Given the description of an element on the screen output the (x, y) to click on. 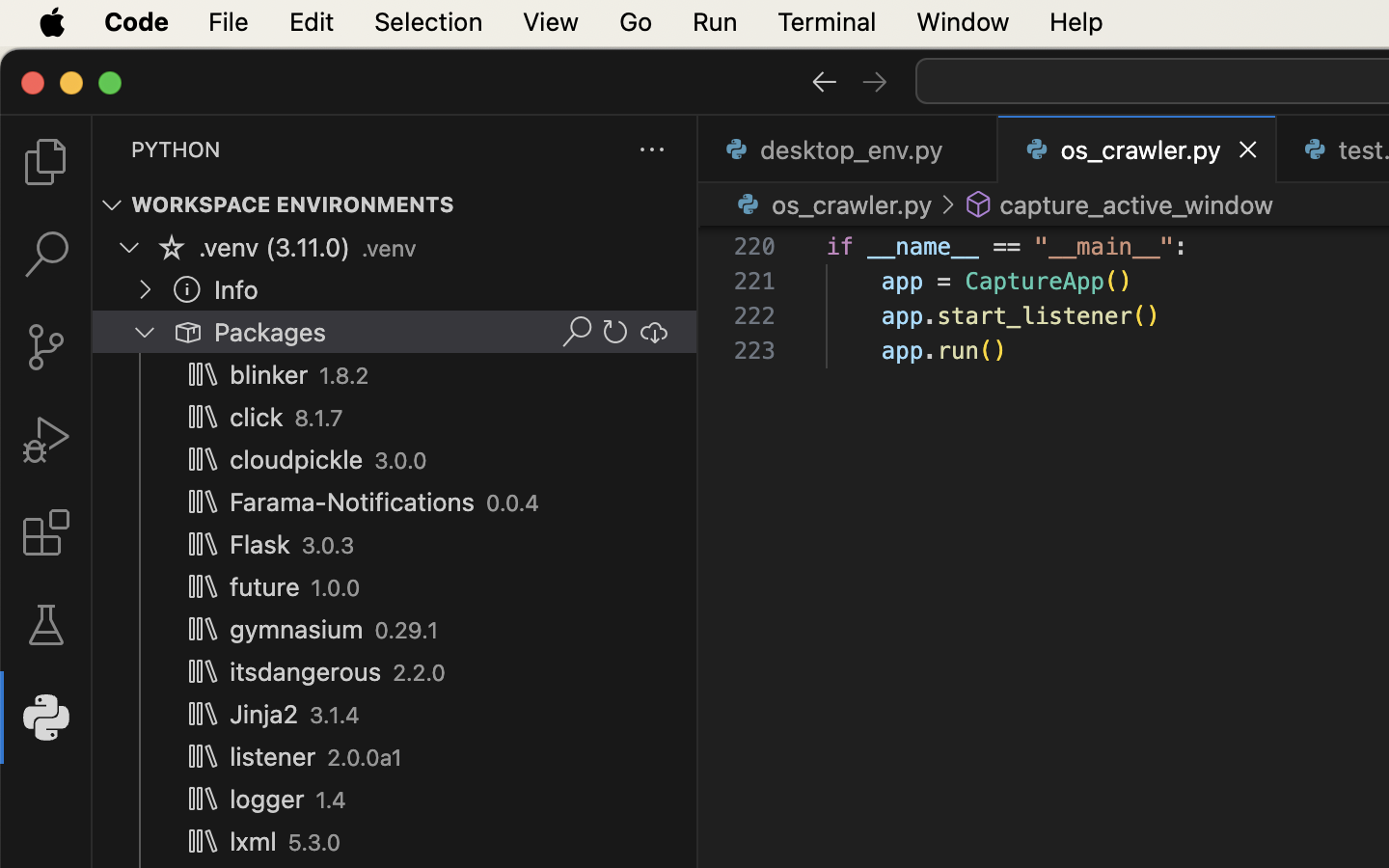
0 desktop_env.py   Element type: AXRadioButton (848, 149)
future Element type: AXStaticText (264, 586)
 Element type: AXButton (576, 331)
lxml Element type: AXStaticText (253, 841)
 Element type: AXStaticText (186, 288)
